Given the description of an element on the screen output the (x, y) to click on. 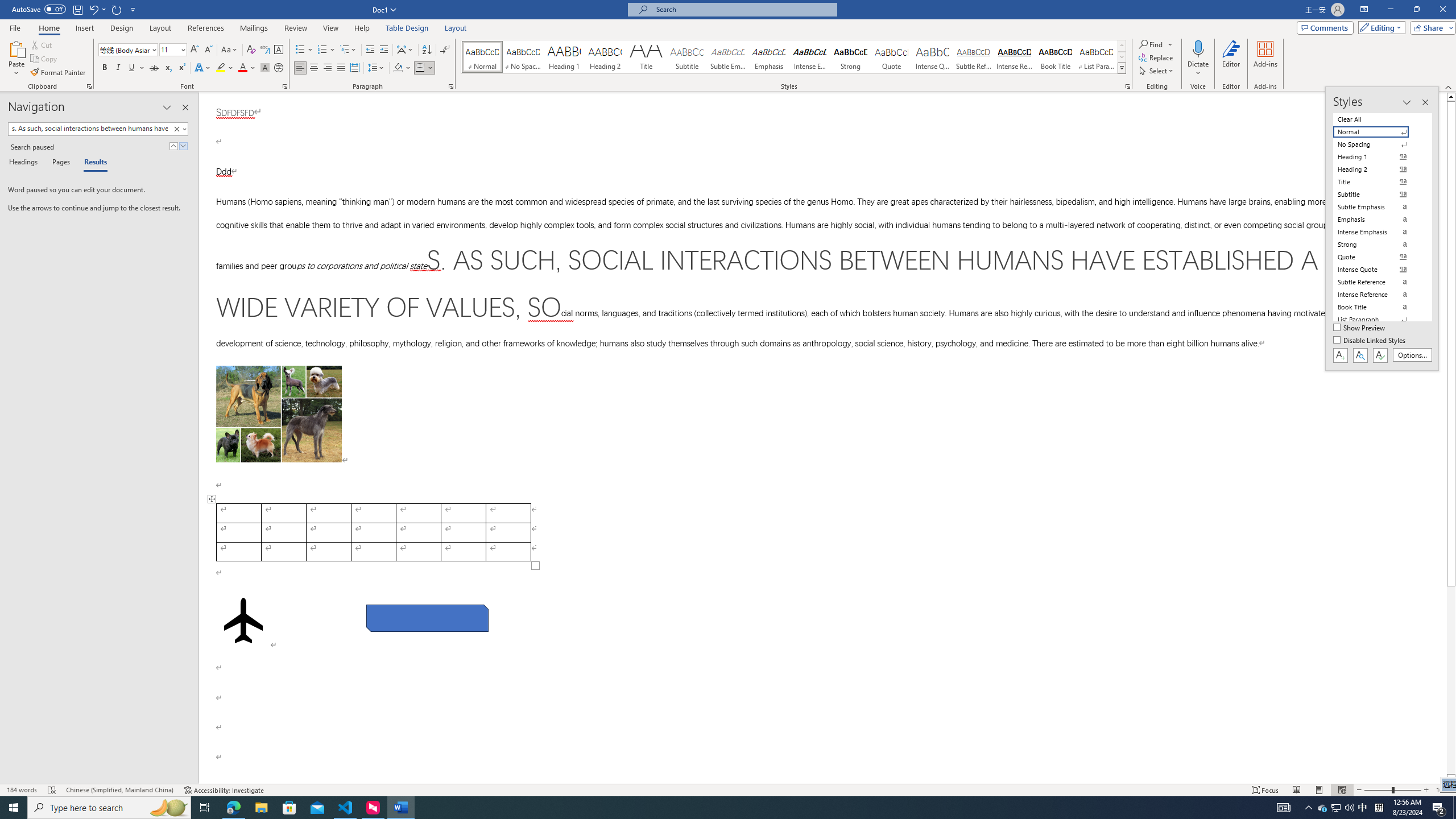
Rectangle: Diagonal Corners Snipped 2 (427, 618)
Strong (849, 56)
Page down (1450, 679)
